Given the description of an element on the screen output the (x, y) to click on. 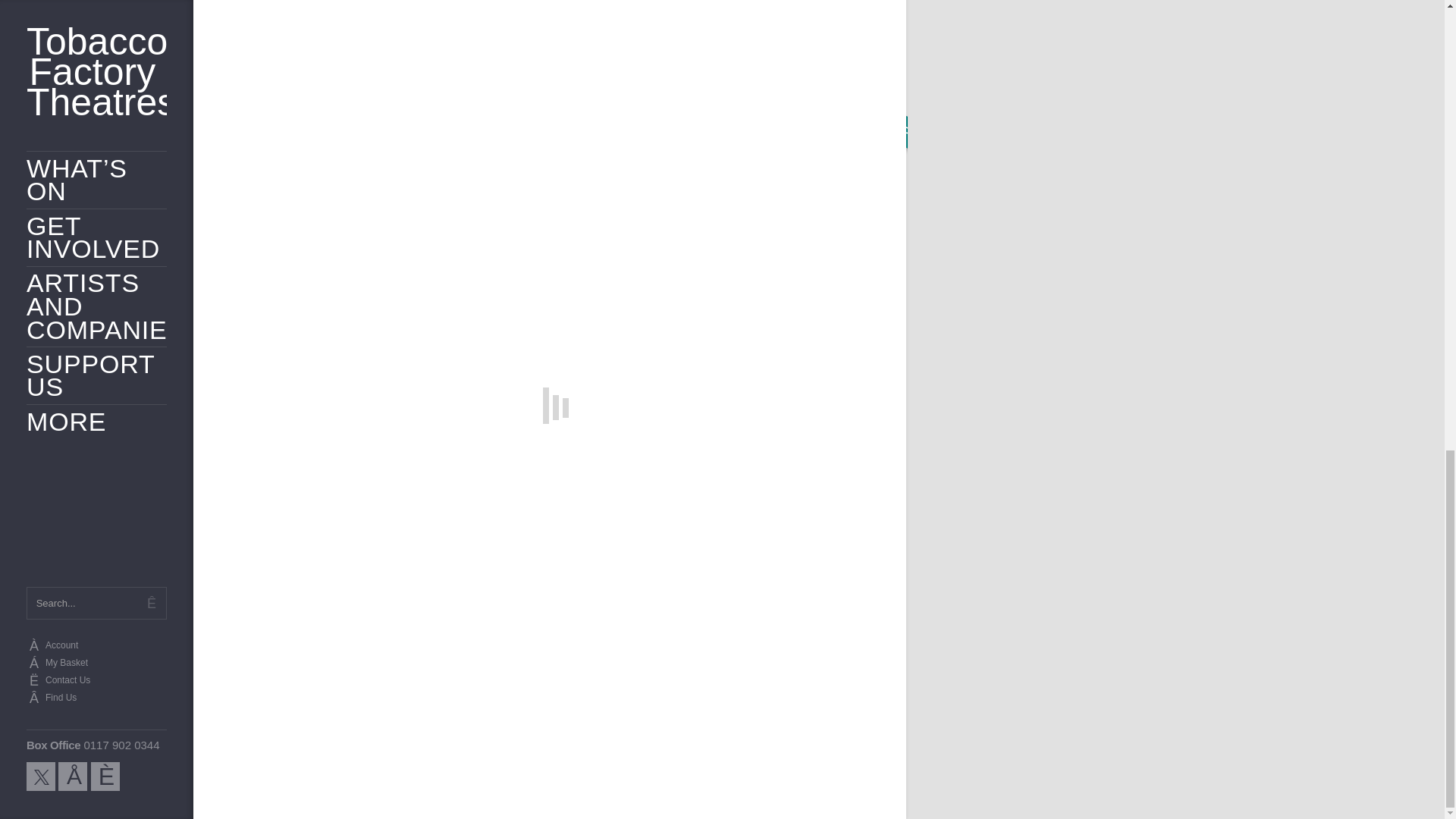
ARCHIVE: Jonny and the Baptists: The End is Nigh (321, 535)
ARCHIVE: Trainspotting (777, 535)
thegreenbankbristol.co.uk (757, 308)
Fiasco Design (855, 784)
ARCHIVE: 1972: The Future of Sex (550, 535)
